Given the description of an element on the screen output the (x, y) to click on. 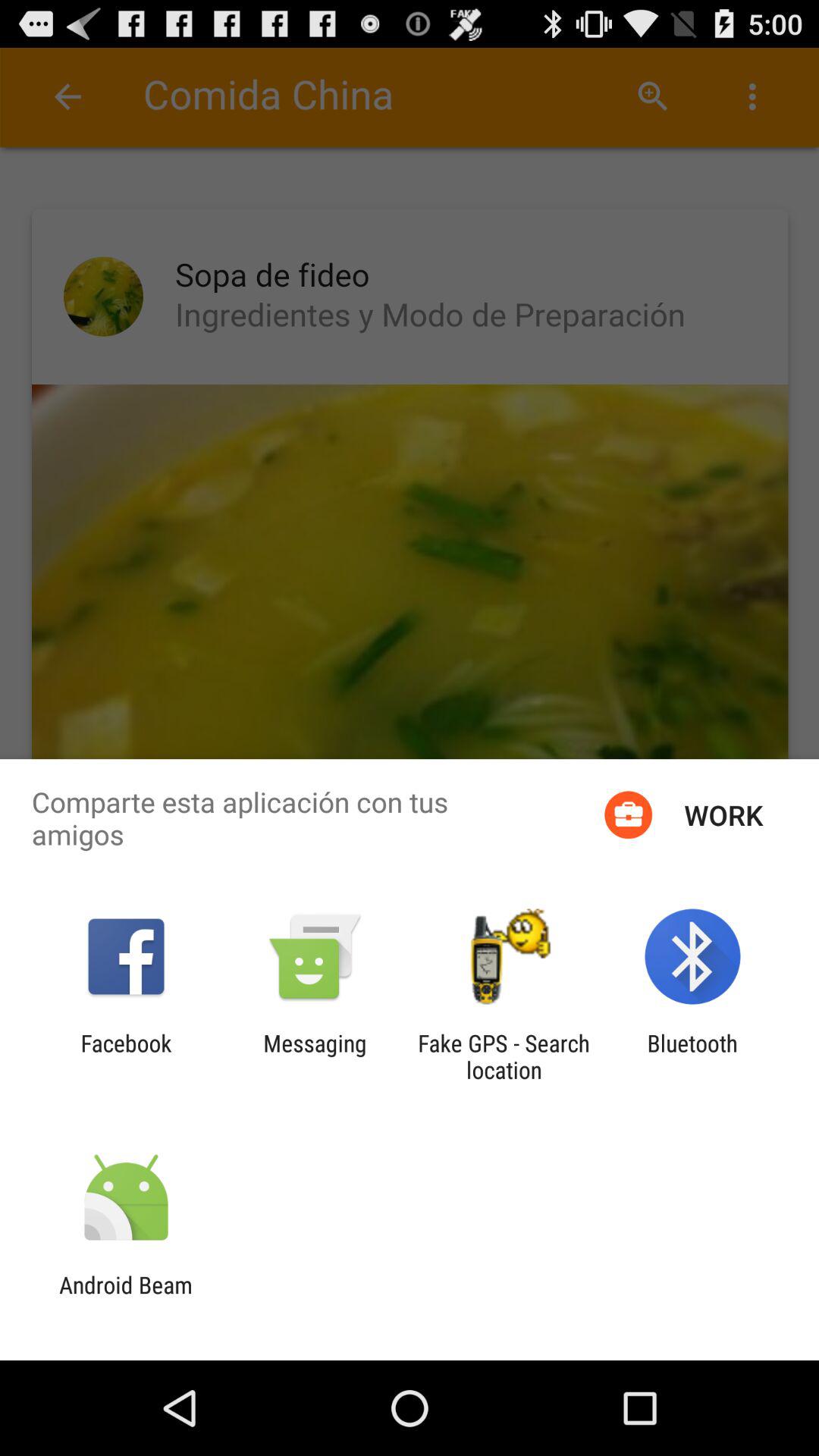
flip to facebook app (125, 1056)
